Given the description of an element on the screen output the (x, y) to click on. 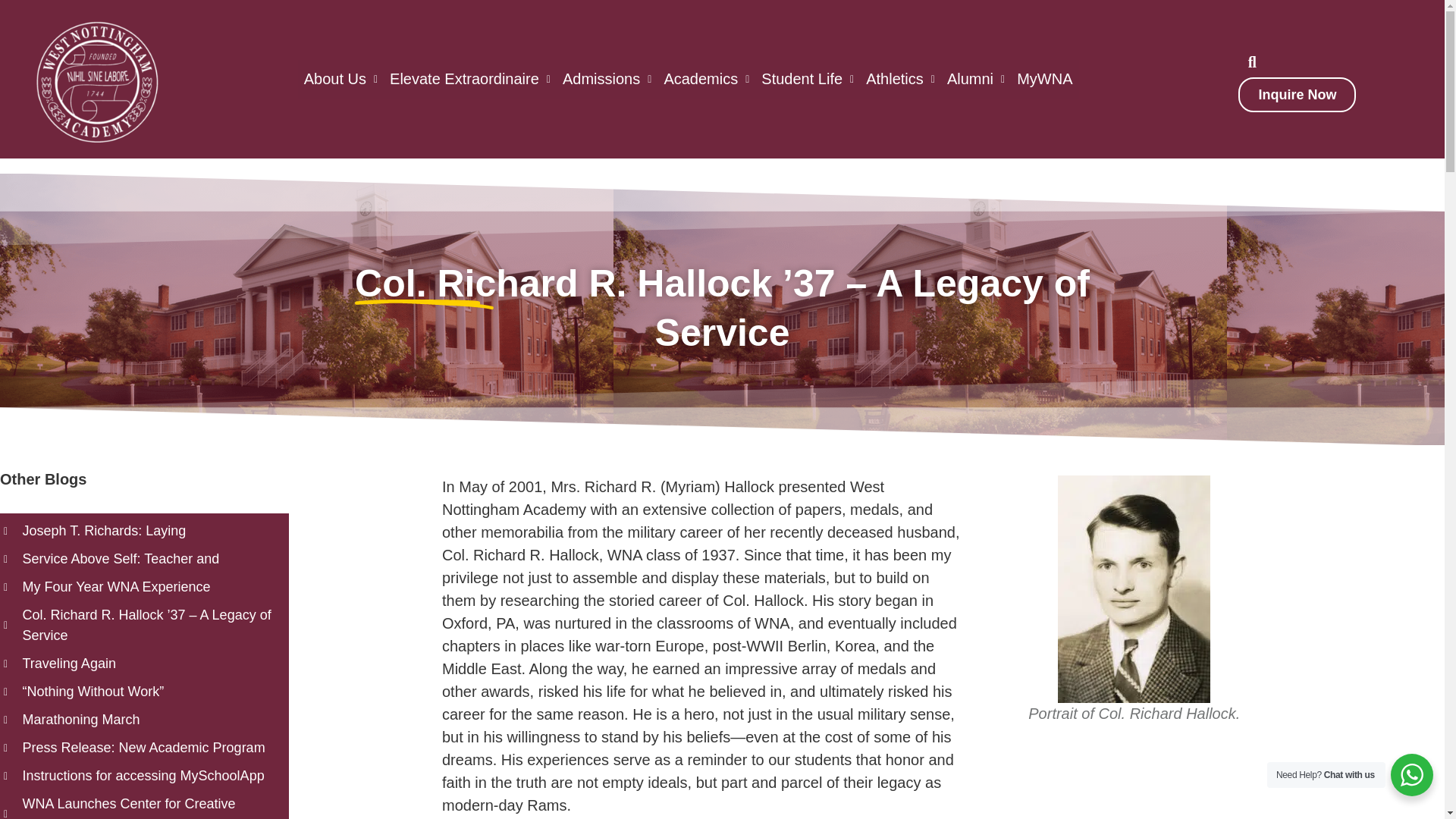
Search (1244, 60)
Elevate Extraordinaire (470, 78)
About Us (341, 78)
Admissions (607, 78)
Academics (706, 78)
